Given the description of an element on the screen output the (x, y) to click on. 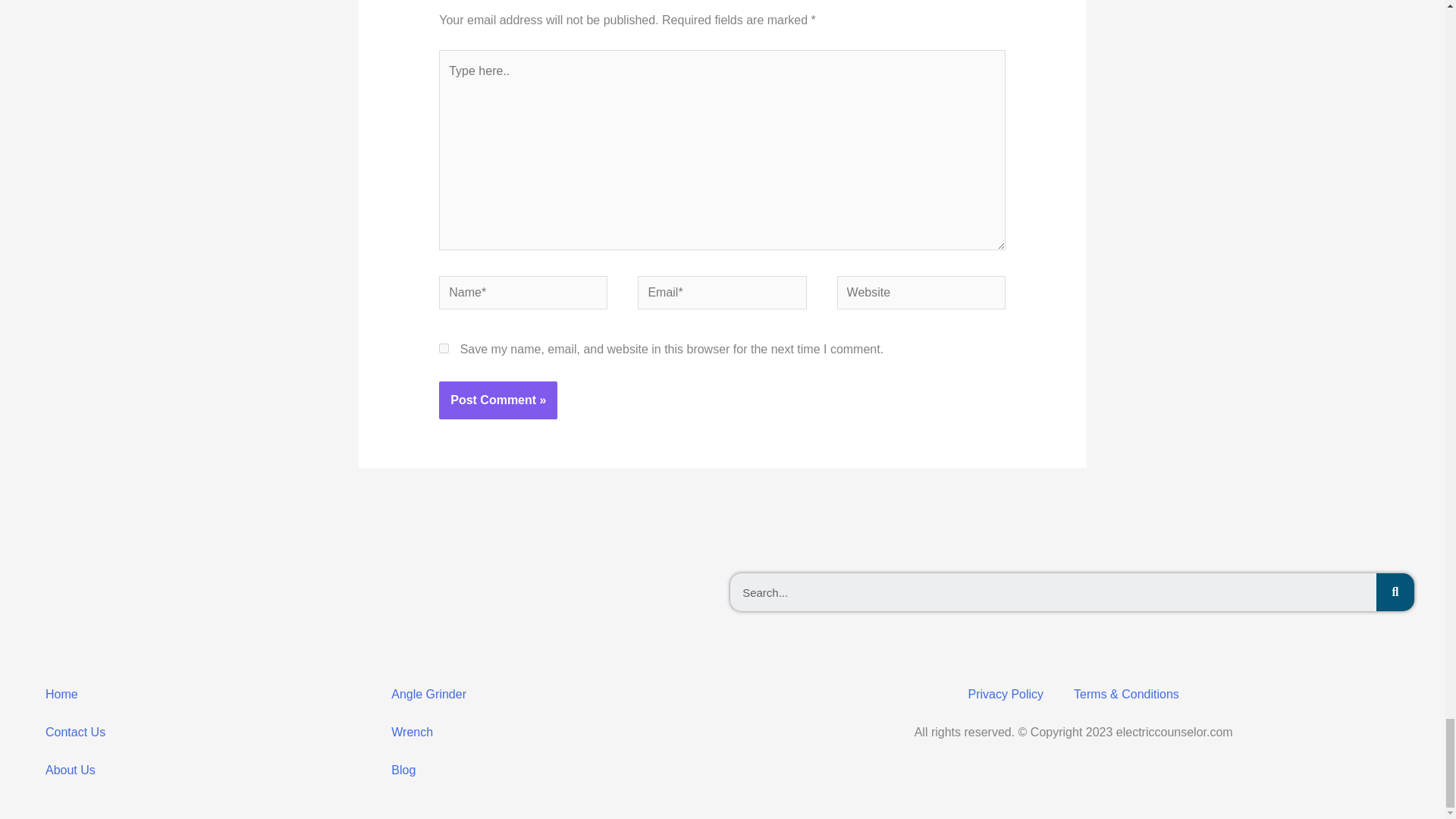
yes (443, 347)
